Given the description of an element on the screen output the (x, y) to click on. 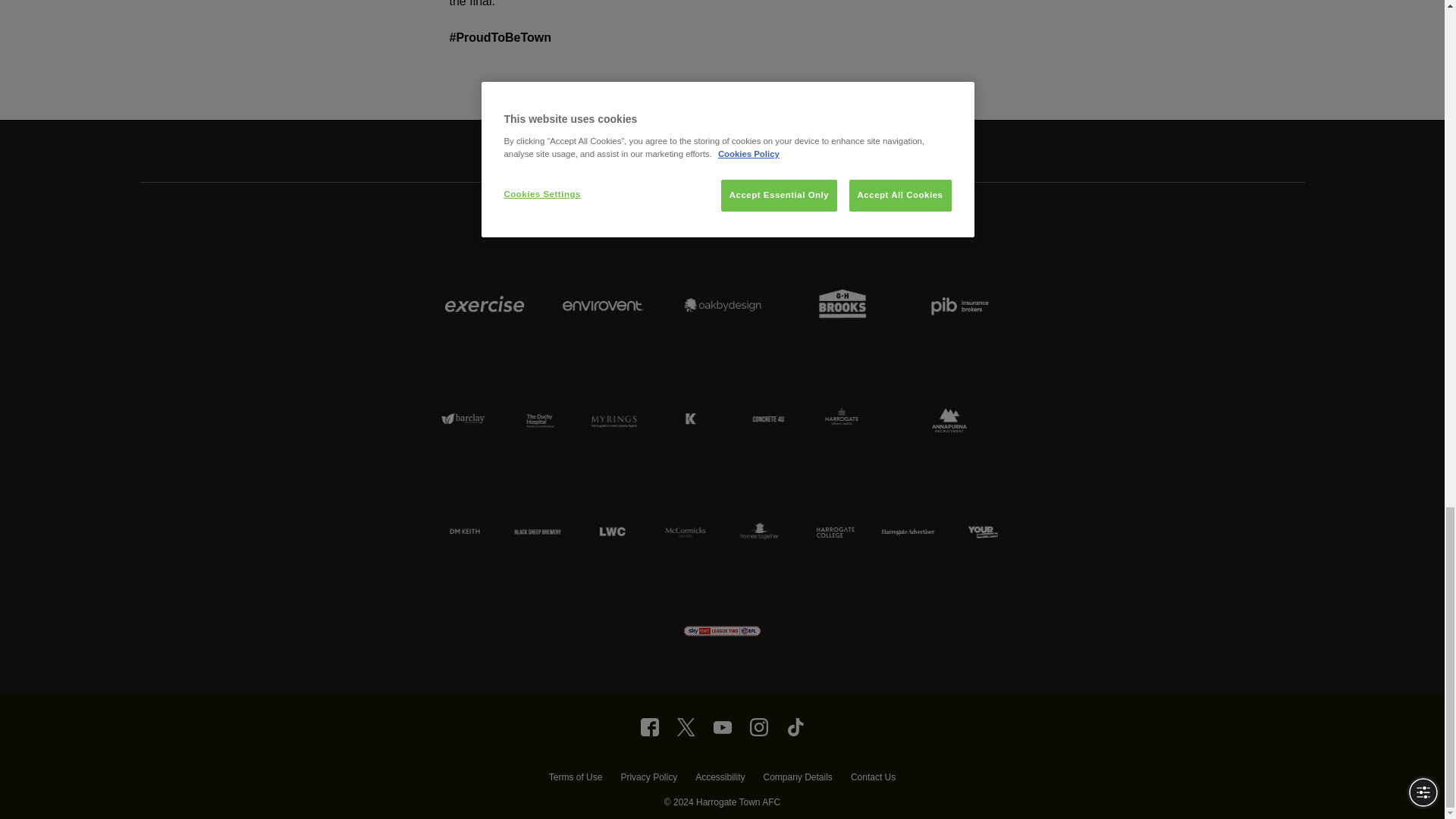
Terms of Use (575, 779)
Accessibility (719, 779)
Company Details (796, 779)
HarrowgateTownAFC (649, 727)
Contact Us (872, 779)
Privacy Policy (648, 779)
